Given the description of an element on the screen output the (x, y) to click on. 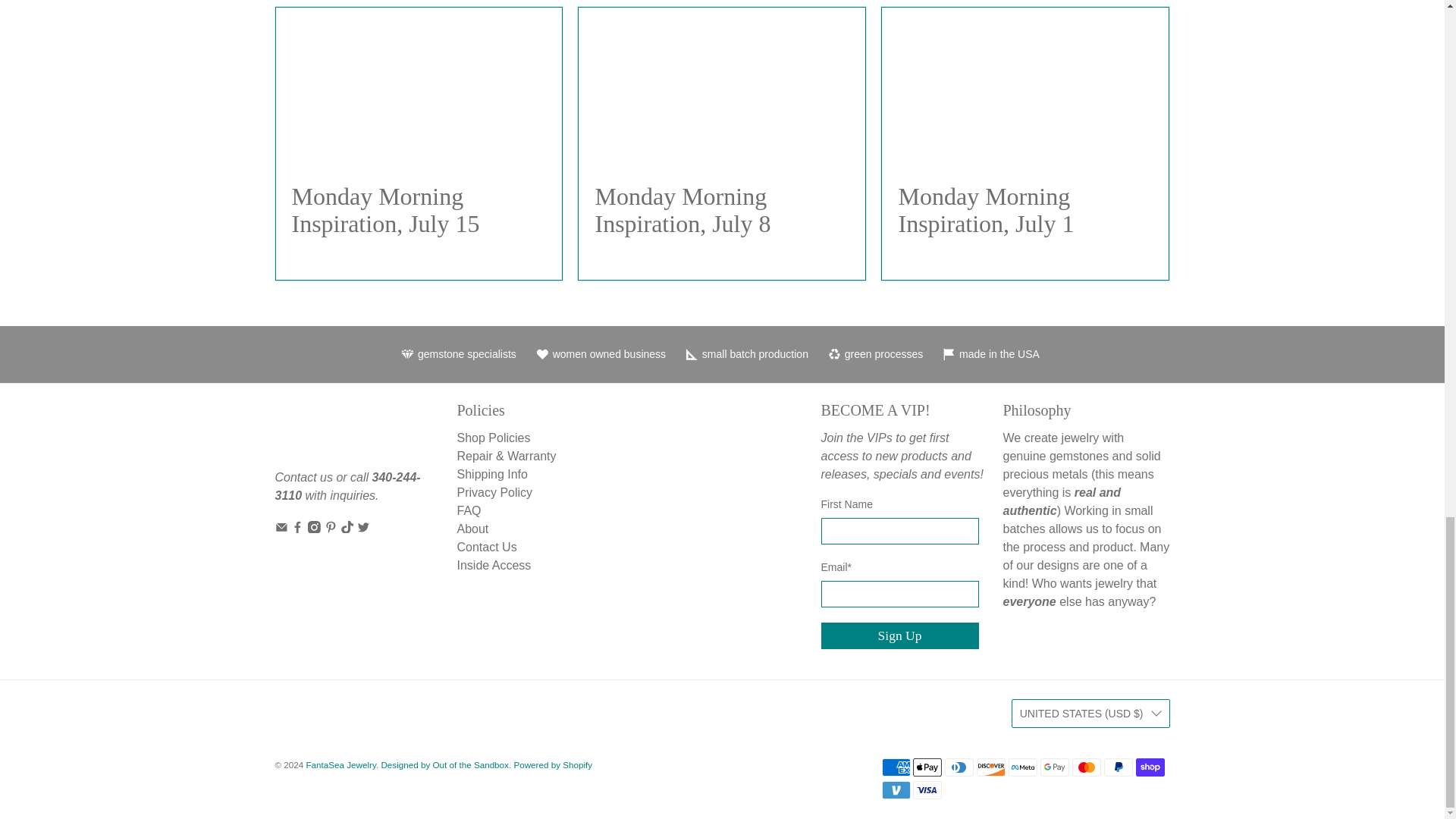
FantaSea Jewelry on Facebook (297, 528)
FantaSea Jewelry (324, 433)
FantaSea Jewelry on Instagram (313, 528)
Monday Morning Inspiration, July 1 (1025, 87)
Monday Morning Inspiration, July 8 (682, 209)
Monday Morning Inspiration, July 15 (385, 209)
Monday Morning Inspiration, July 8 (721, 87)
Monday Morning Inspiration, July 1 (986, 209)
FantaSea Jewelry on Pinterest (330, 528)
Apple Pay (927, 767)
Contact Us (303, 477)
Monday Morning Inspiration, July 15 (419, 87)
FantaSea Jewelry on TikTok (346, 528)
American Express (895, 767)
Diners Club (959, 767)
